Given the description of an element on the screen output the (x, y) to click on. 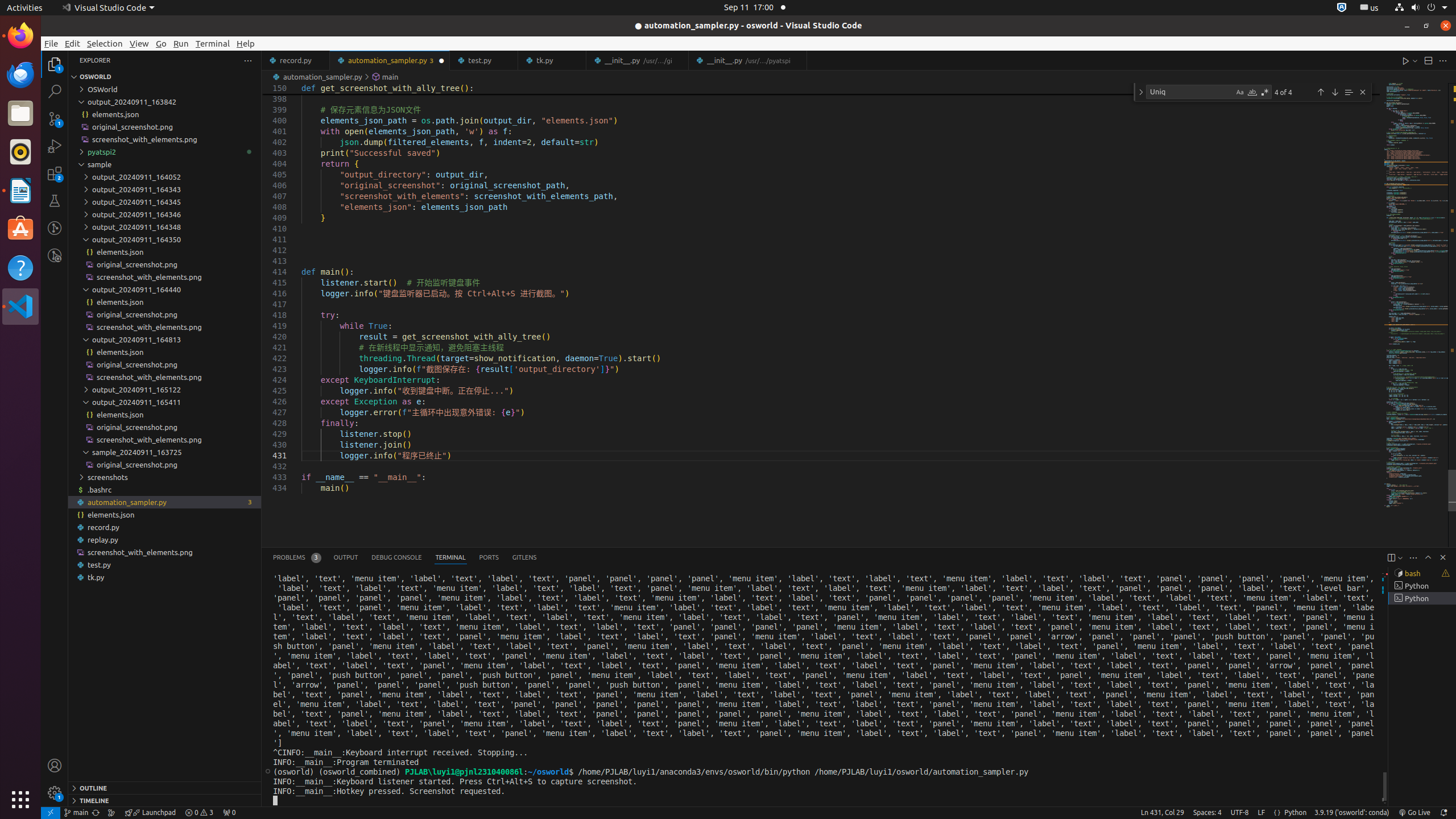
OSWorld Element type: tree-item (164, 89)
Active View Switcher Element type: page-tab-list (404, 557)
output_20240911_164440 Element type: tree-item (164, 289)
Terminal Element type: push-button (212, 43)
